Given the description of an element on the screen output the (x, y) to click on. 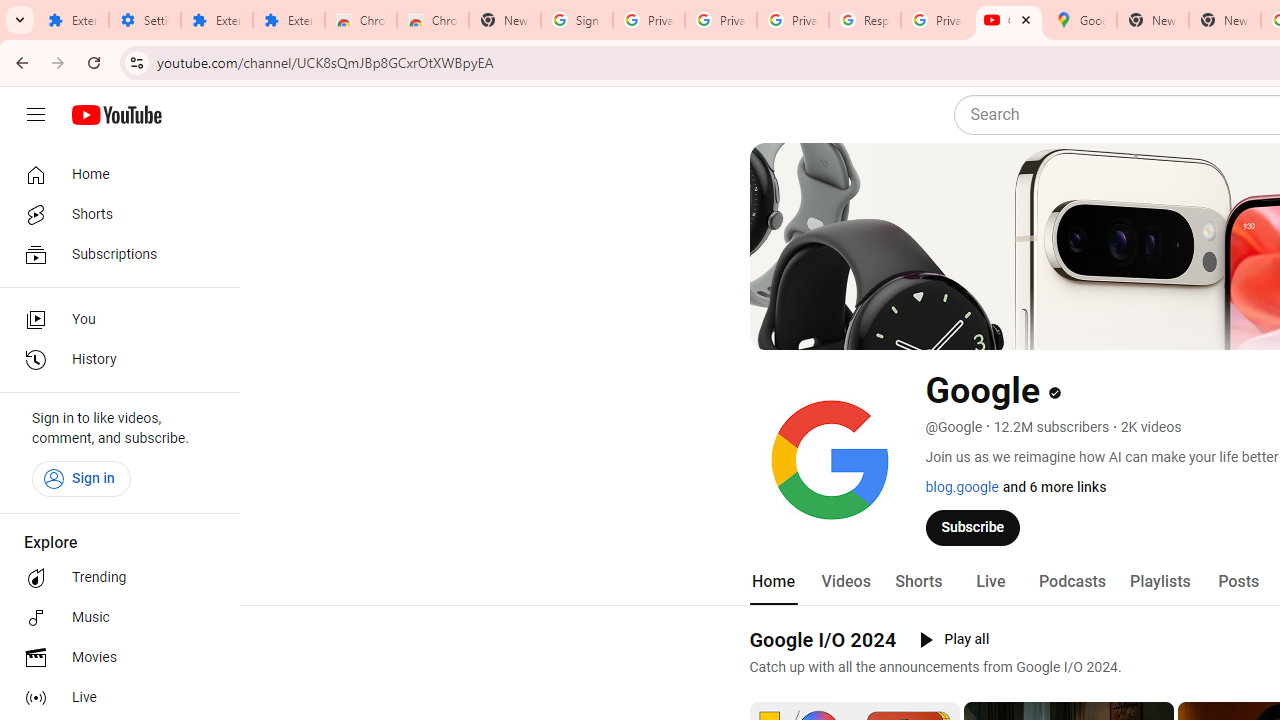
Forward (57, 62)
Google Maps (1080, 20)
Google - YouTube (1008, 20)
Reload (93, 62)
Extensions (72, 20)
Live (990, 581)
and 6 more links (1054, 487)
View site information (136, 62)
Trending (113, 578)
Sign in - Google Accounts (577, 20)
New Tab (1224, 20)
Live (113, 697)
Movies (113, 657)
